Given the description of an element on the screen output the (x, y) to click on. 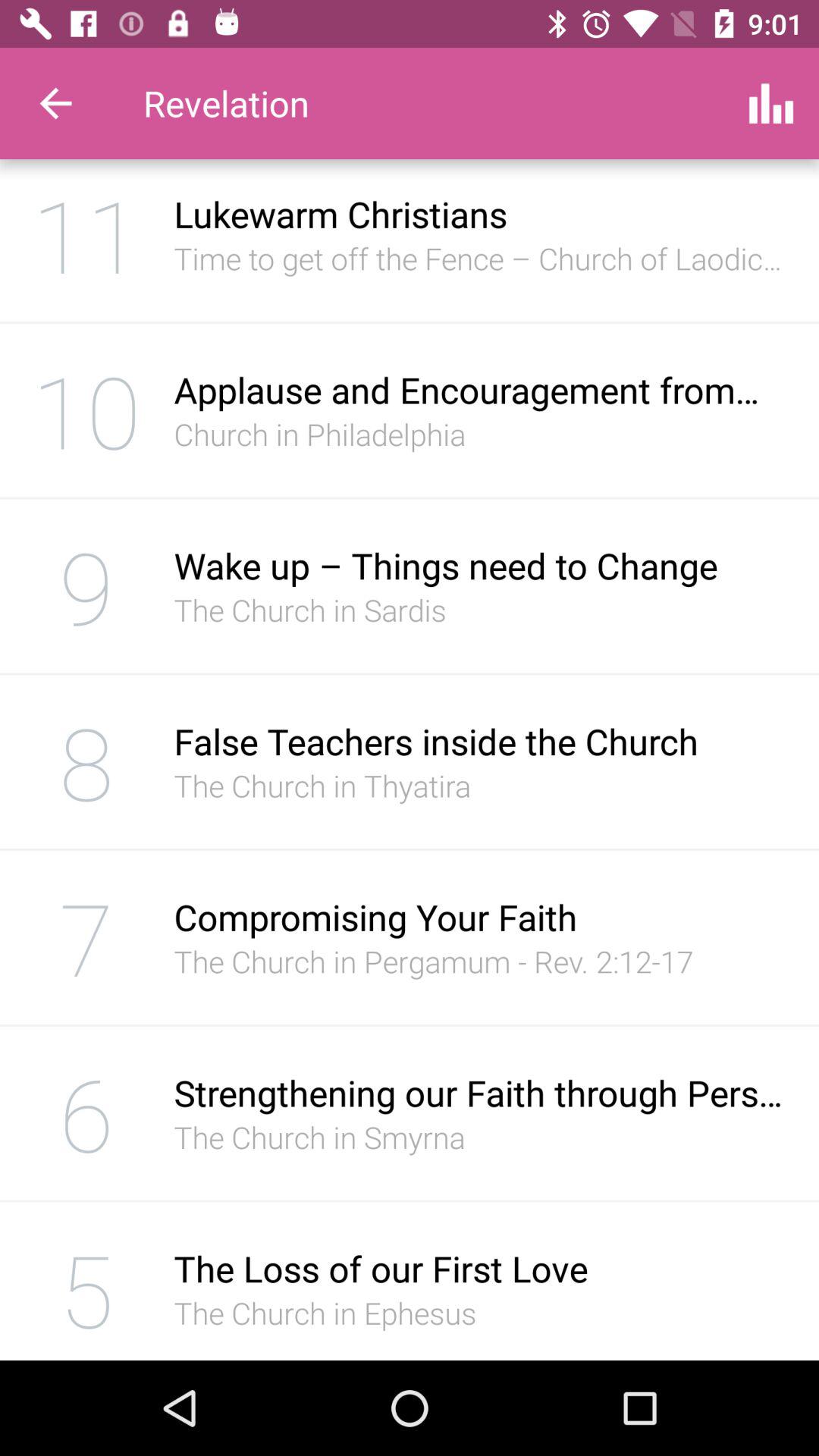
click the icon above 11 (55, 103)
